Given the description of an element on the screen output the (x, y) to click on. 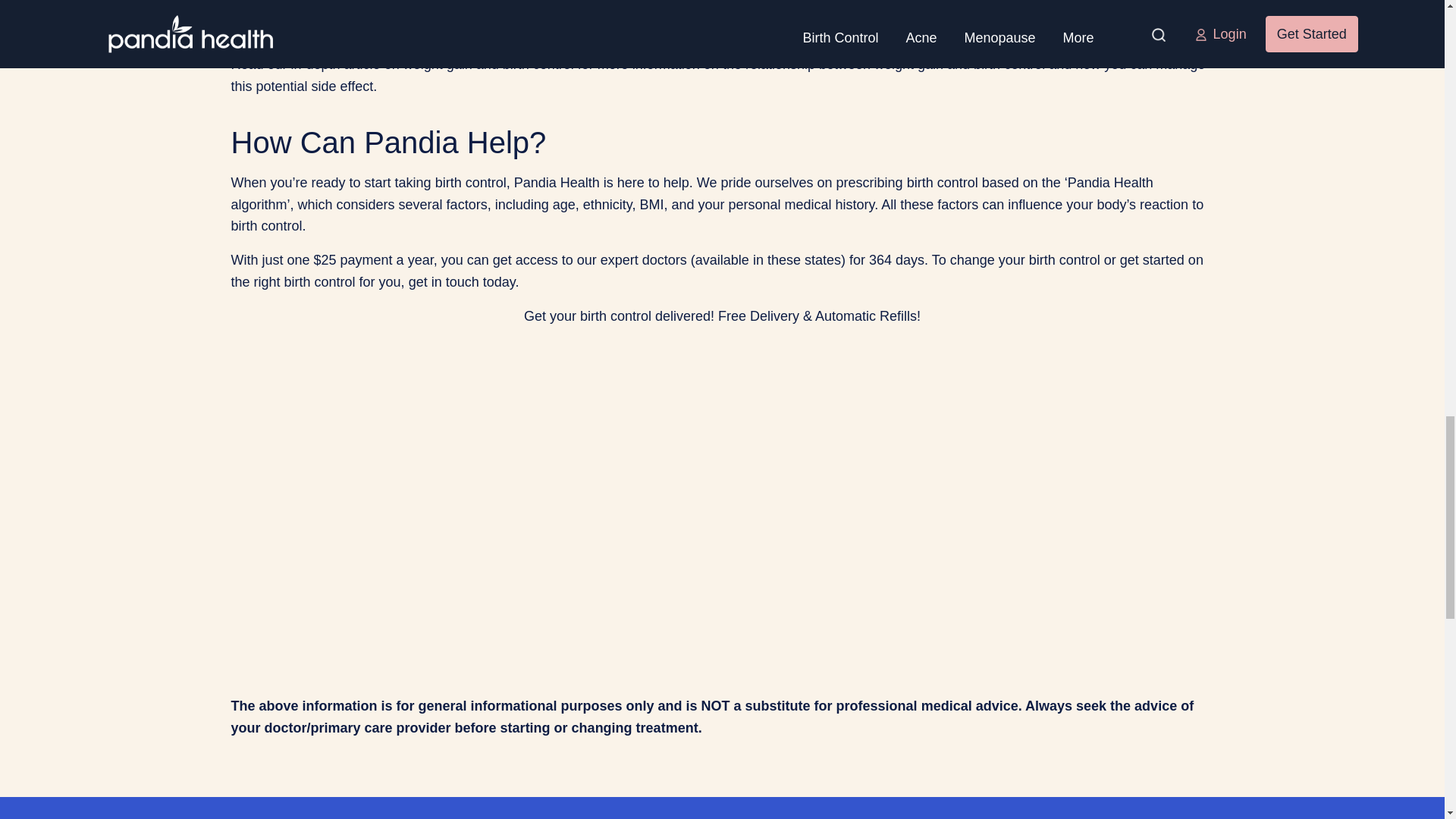
Will Birth Control Make Me Gain Weight by Pandia Health (420, 524)
